Given the description of an element on the screen output the (x, y) to click on. 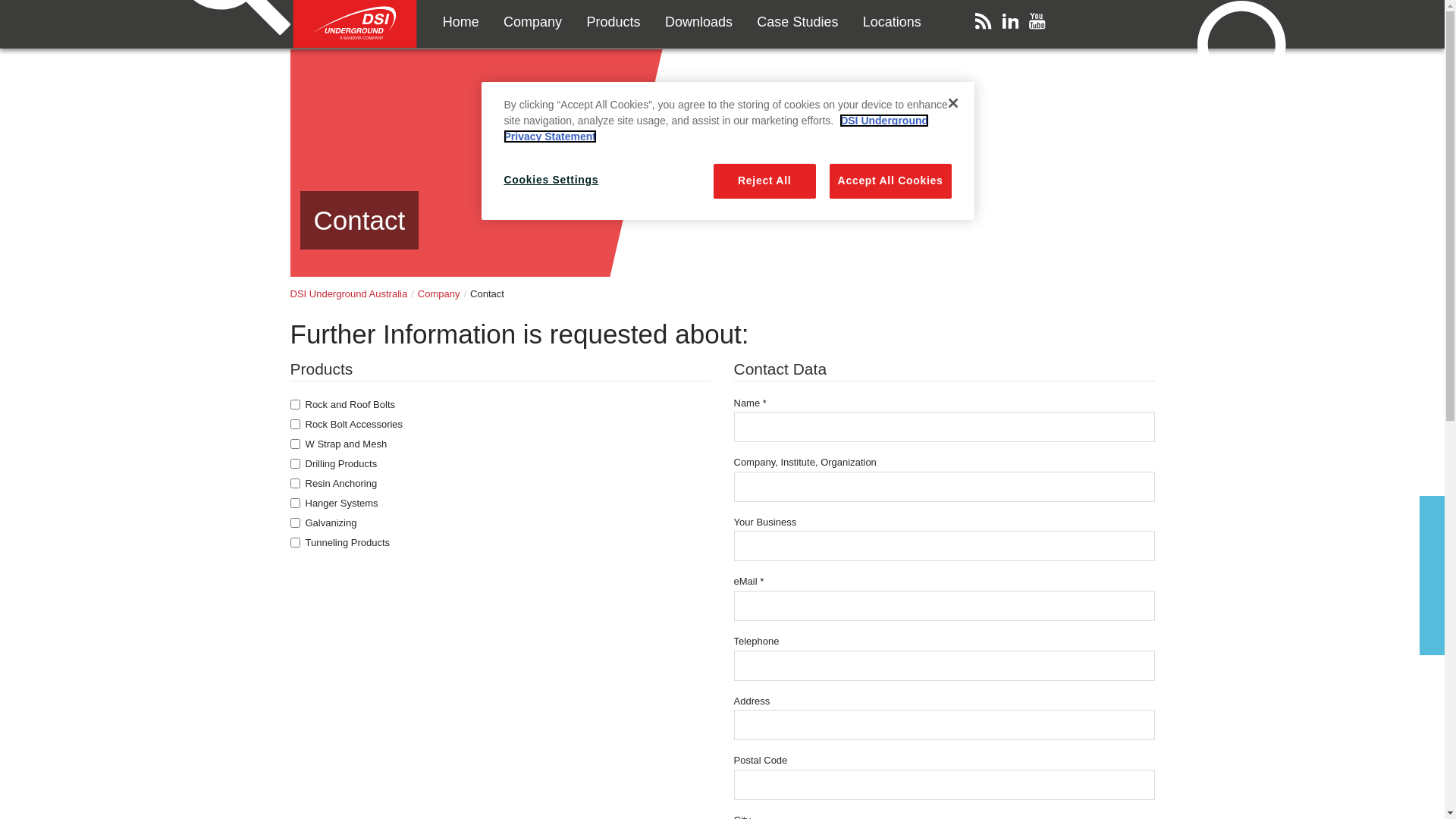
Locations Element type: text (891, 21)
YouTube Element type: hover (1040, 23)
Products Element type: text (613, 21)
DSI Underground Australia Element type: text (348, 293)
Company Element type: text (532, 21)
Accept All Cookies Element type: text (890, 180)
Reject All Element type: text (764, 180)
Home Element type: text (460, 21)
LinkedIn Element type: hover (1014, 23)
Cookies Settings Element type: text (554, 180)
DSI Underground Privacy Statement Element type: text (715, 128)
Contact Element type: hover (289, 49)
DSI Underground Element type: hover (354, 23)
Company Element type: text (438, 293)
Case Studies Element type: text (797, 21)
RSS-Feed Element type: hover (986, 23)
Downloads Element type: text (698, 21)
